Given the description of an element on the screen output the (x, y) to click on. 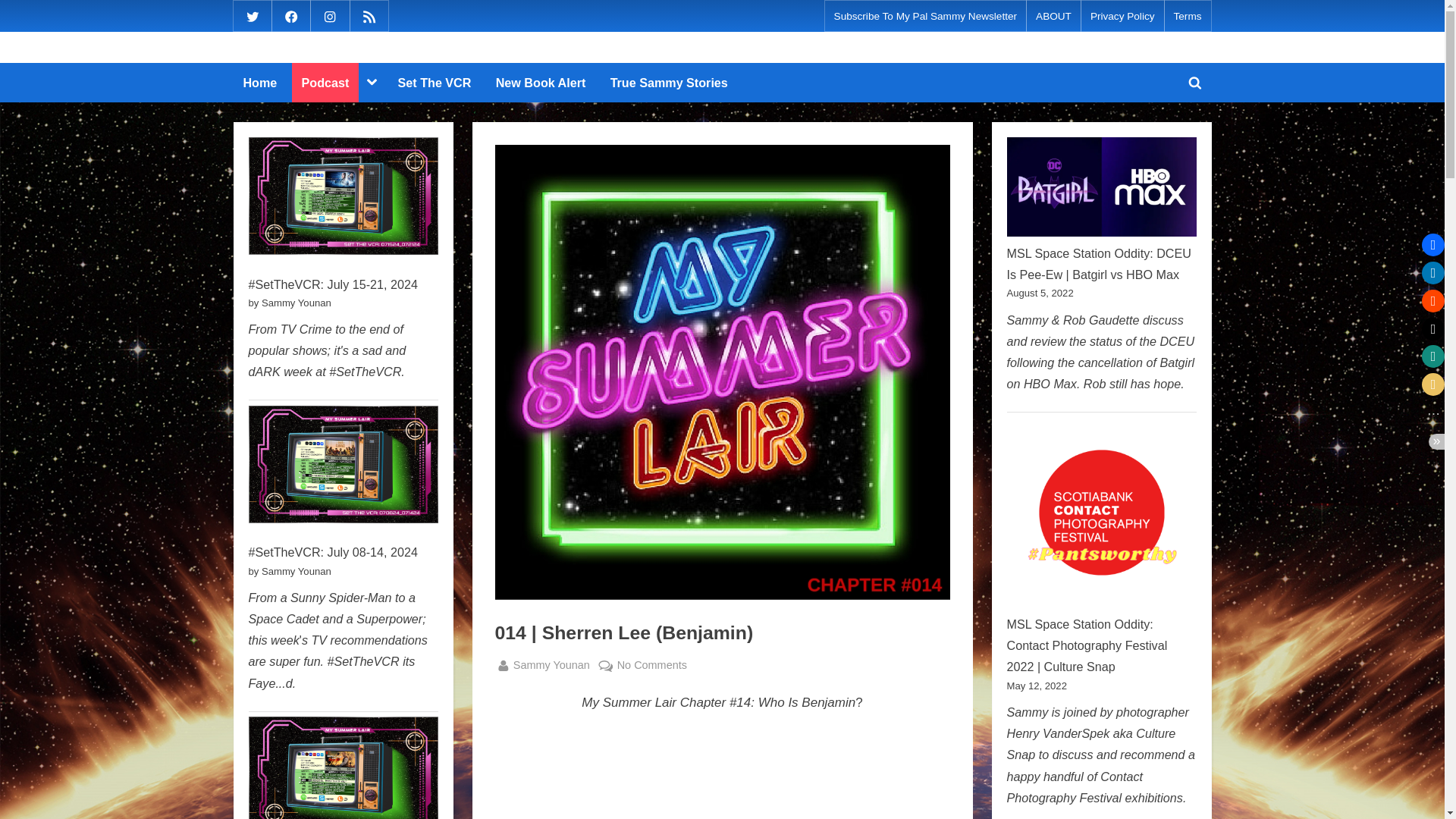
Facebook (291, 15)
Privacy Policy (1122, 16)
Twitter (252, 15)
Home (259, 82)
Subscribe To My Pal Sammy Newsletter (925, 16)
New Book Alert (540, 82)
Toggle sub-menu (370, 82)
Set The VCR (434, 82)
True Sammy Stories (560, 665)
Podcast (668, 82)
Toggle search form (325, 82)
My Summer Lair (1194, 82)
PodBean (551, 665)
